Given the description of an element on the screen output the (x, y) to click on. 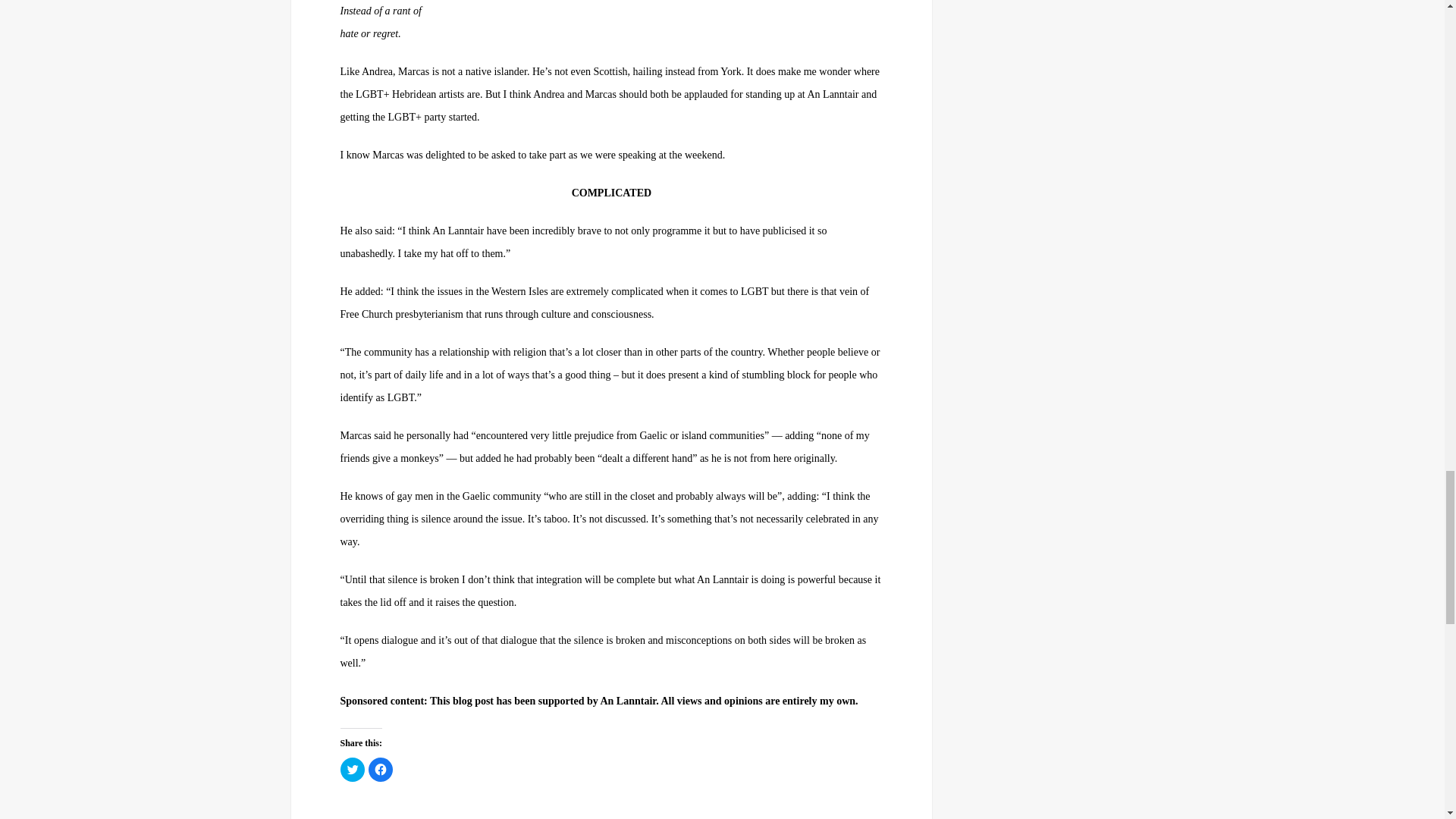
Click to share on Facebook (380, 769)
Click to share on Twitter (351, 769)
